Given the description of an element on the screen output the (x, y) to click on. 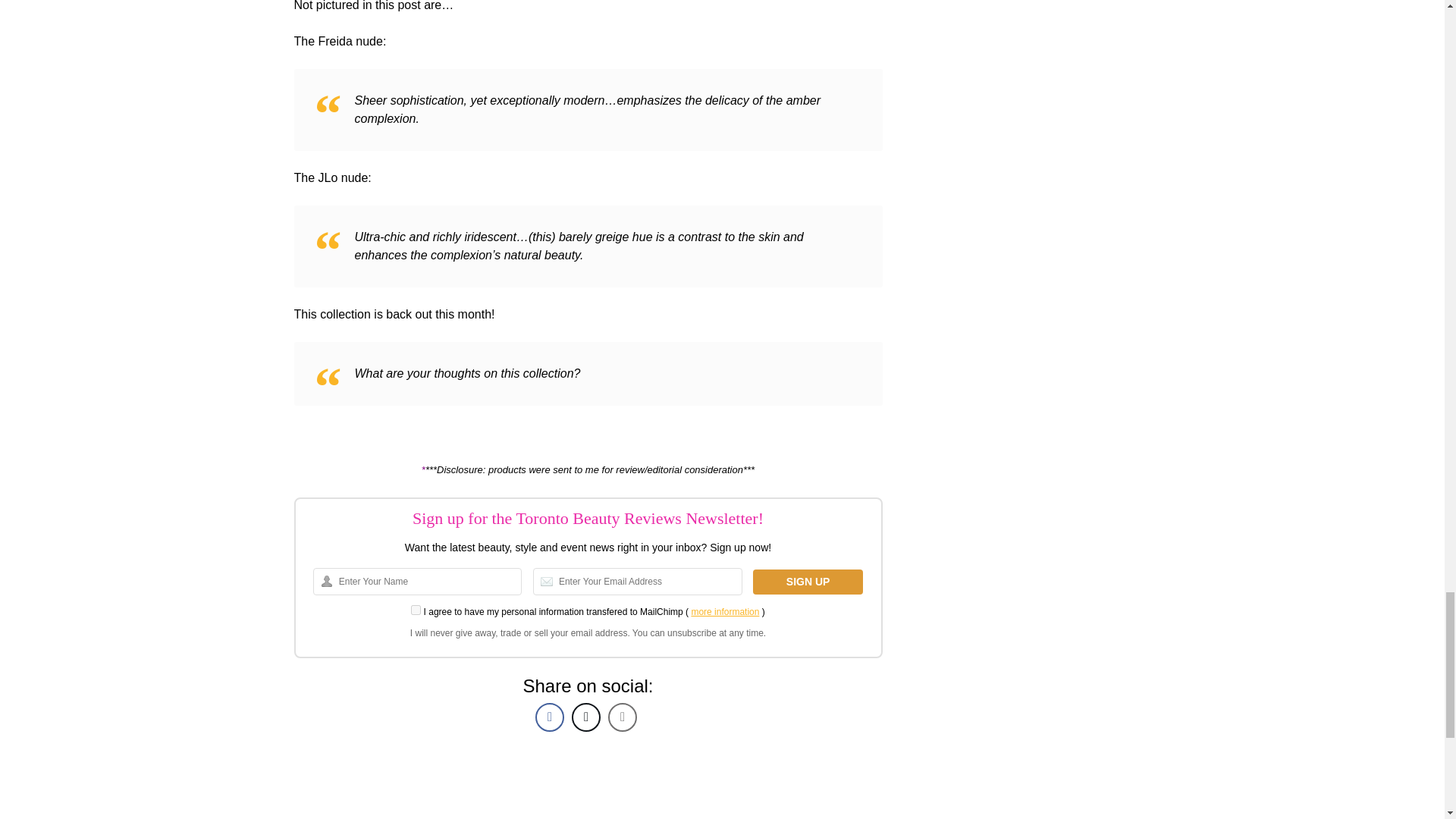
on (415, 610)
SIGN UP (807, 581)
